Given the description of an element on the screen output the (x, y) to click on. 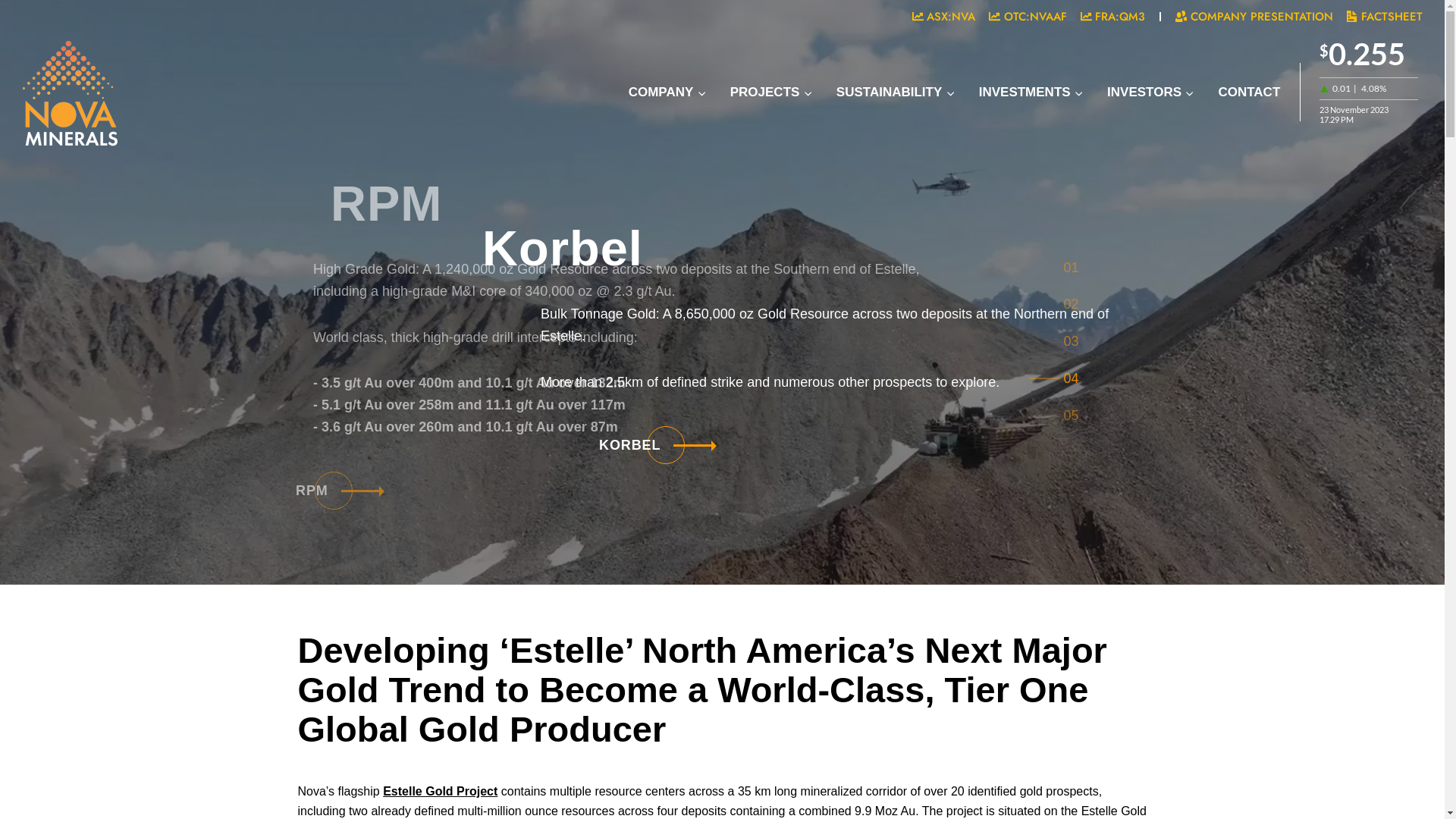
Estelle Gold Project Element type: text (439, 790)
INVESTMENTS Element type: text (1030, 92)
INVESTORS Element type: text (1150, 92)
ASX:NVA Element type: text (943, 16)
RPM Element type: text (408, 490)
OTC:NVAAF Element type: text (1027, 16)
COMPANY PRESENTATION Element type: text (1253, 16)
FACTSHEET Element type: text (1384, 16)
PROJECTS Element type: text (771, 92)
SUSTAINABILITY Element type: text (895, 92)
FRA:QM3 Element type: text (1112, 16)
CONTACT Element type: text (1249, 92)
COMPANY Element type: text (667, 92)
